Given the description of an element on the screen output the (x, y) to click on. 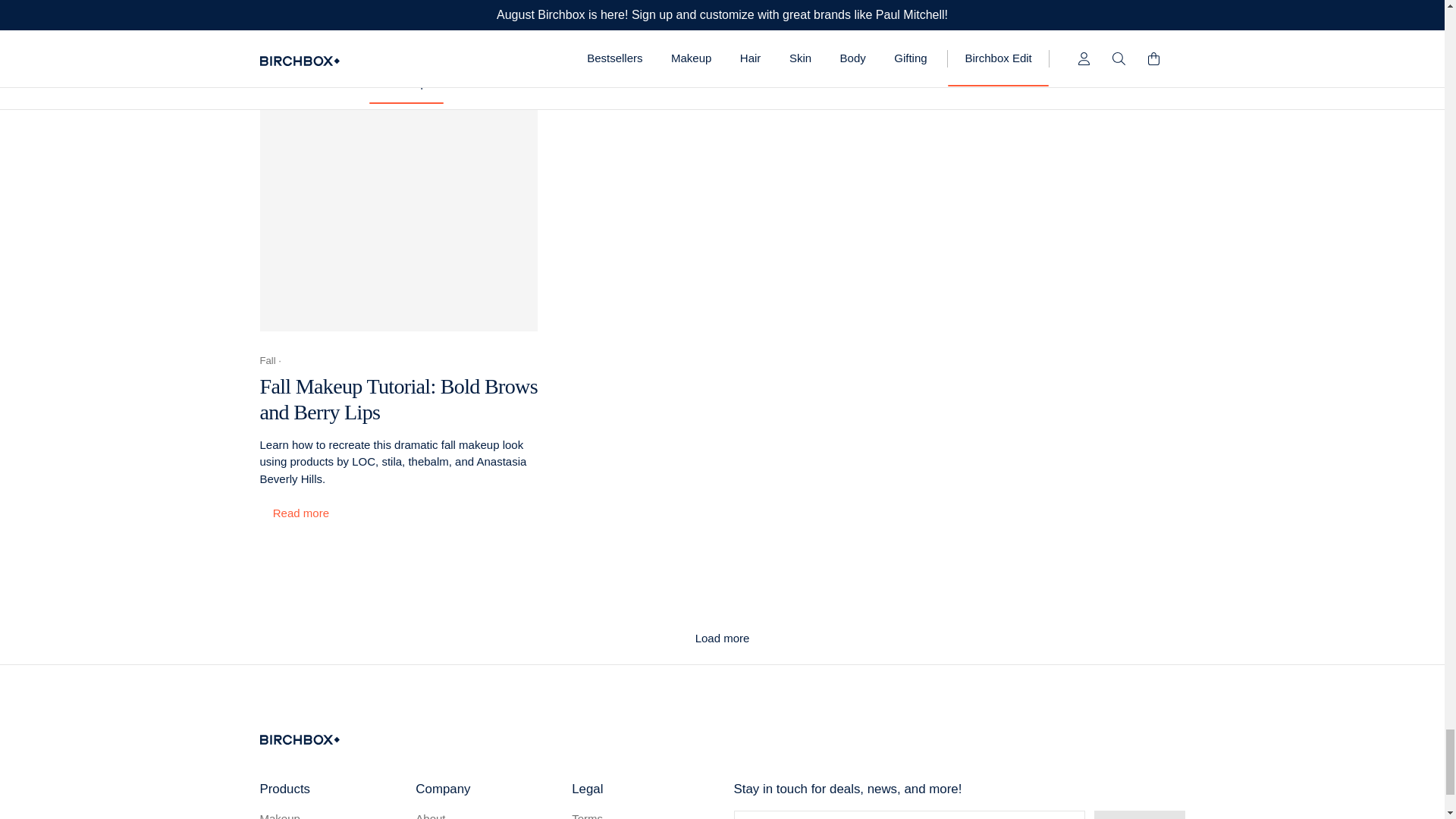
Birchbox (299, 739)
